Given the description of an element on the screen output the (x, y) to click on. 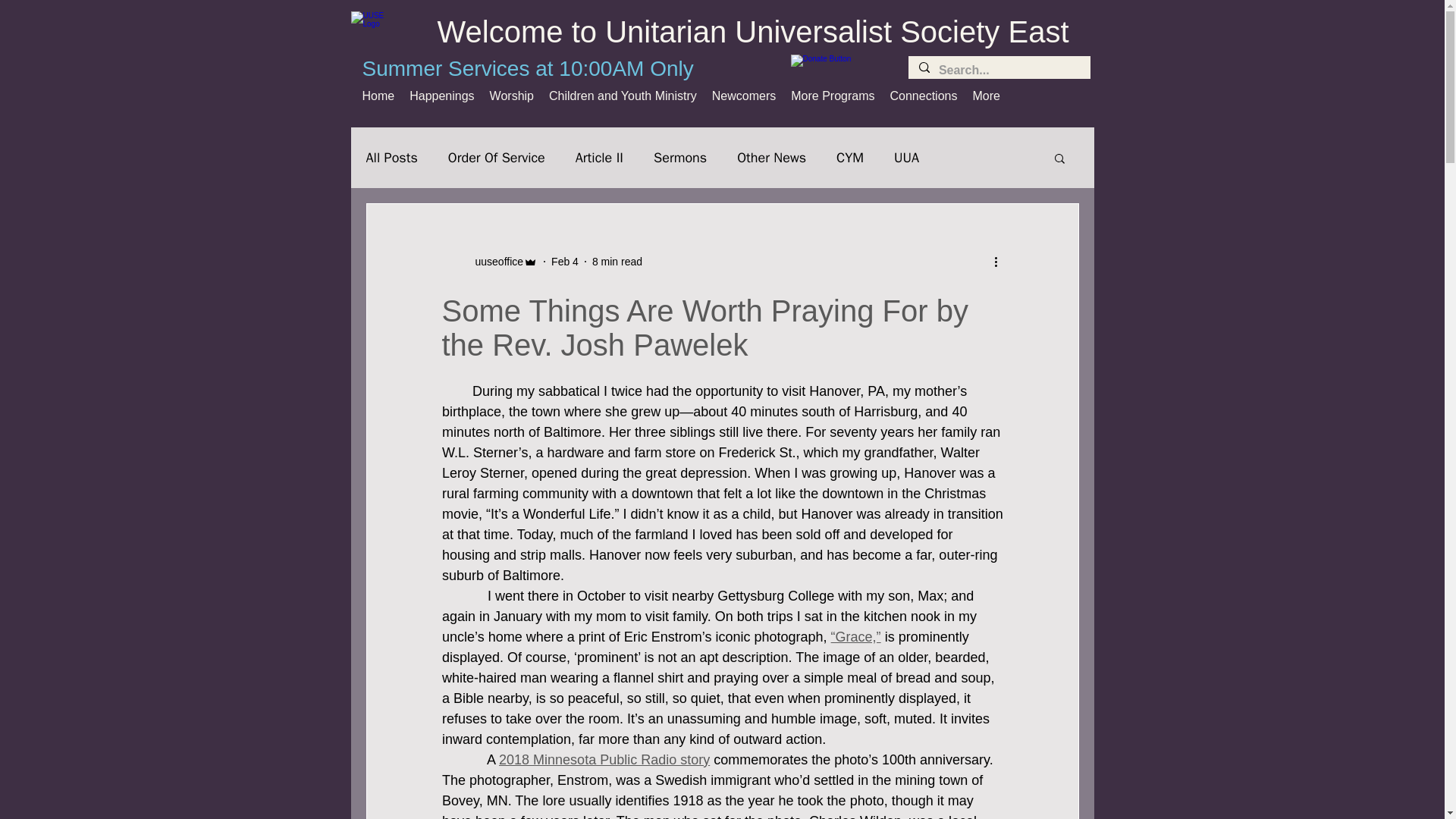
Donate Button (841, 67)
8 min read (617, 260)
Happenings (441, 102)
UUSE Logo (367, 28)
Children and Youth Ministry (622, 102)
Home (379, 102)
uuseoffice (493, 261)
Feb 4 (564, 260)
Newcomers (743, 102)
Worship (511, 102)
